Given the description of an element on the screen output the (x, y) to click on. 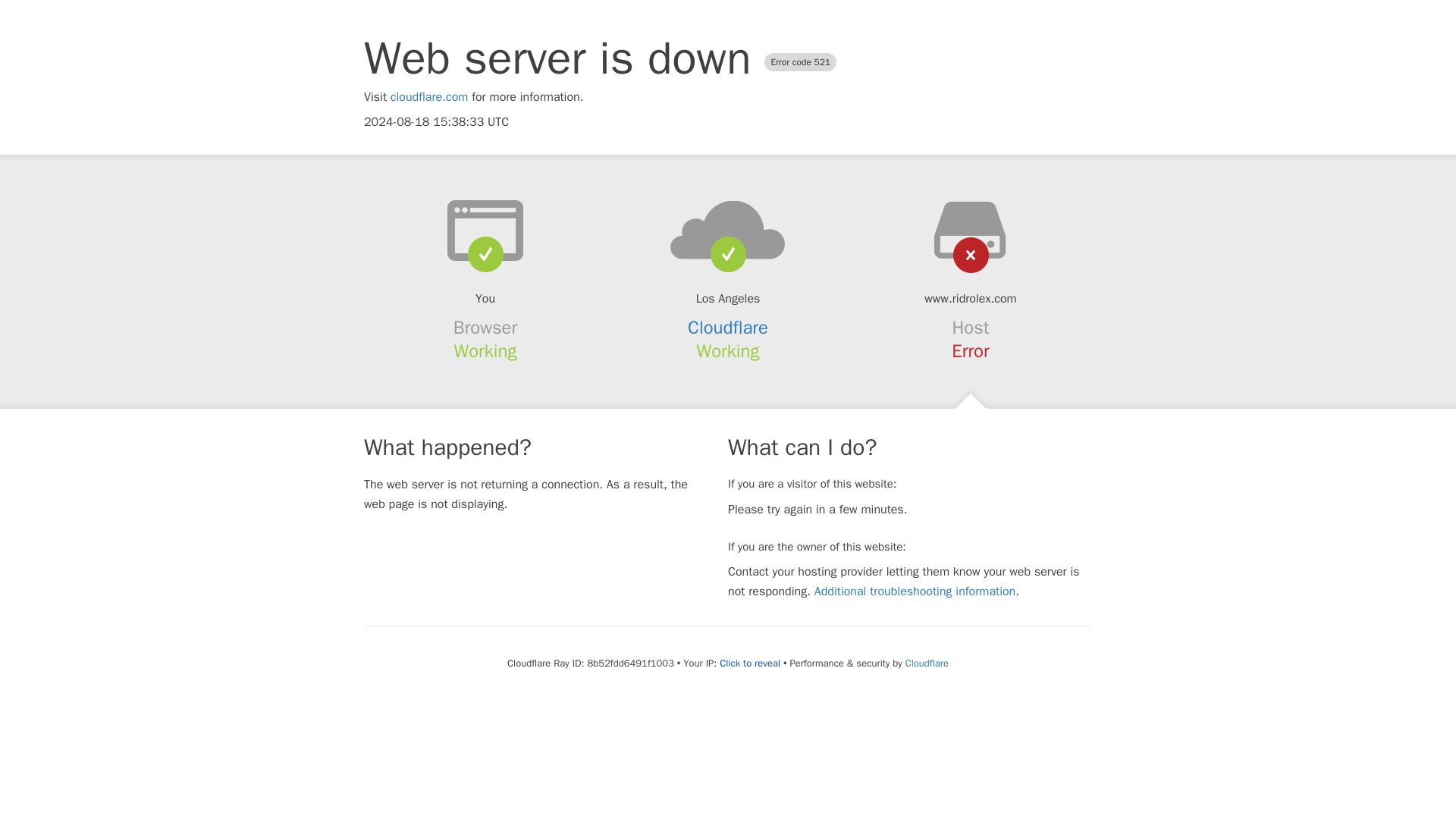
Cloudflare (927, 662)
Click to reveal (749, 663)
Cloudflare (727, 327)
cloudflare.com (429, 96)
Additional troubleshooting information (913, 590)
